Given the description of an element on the screen output the (x, y) to click on. 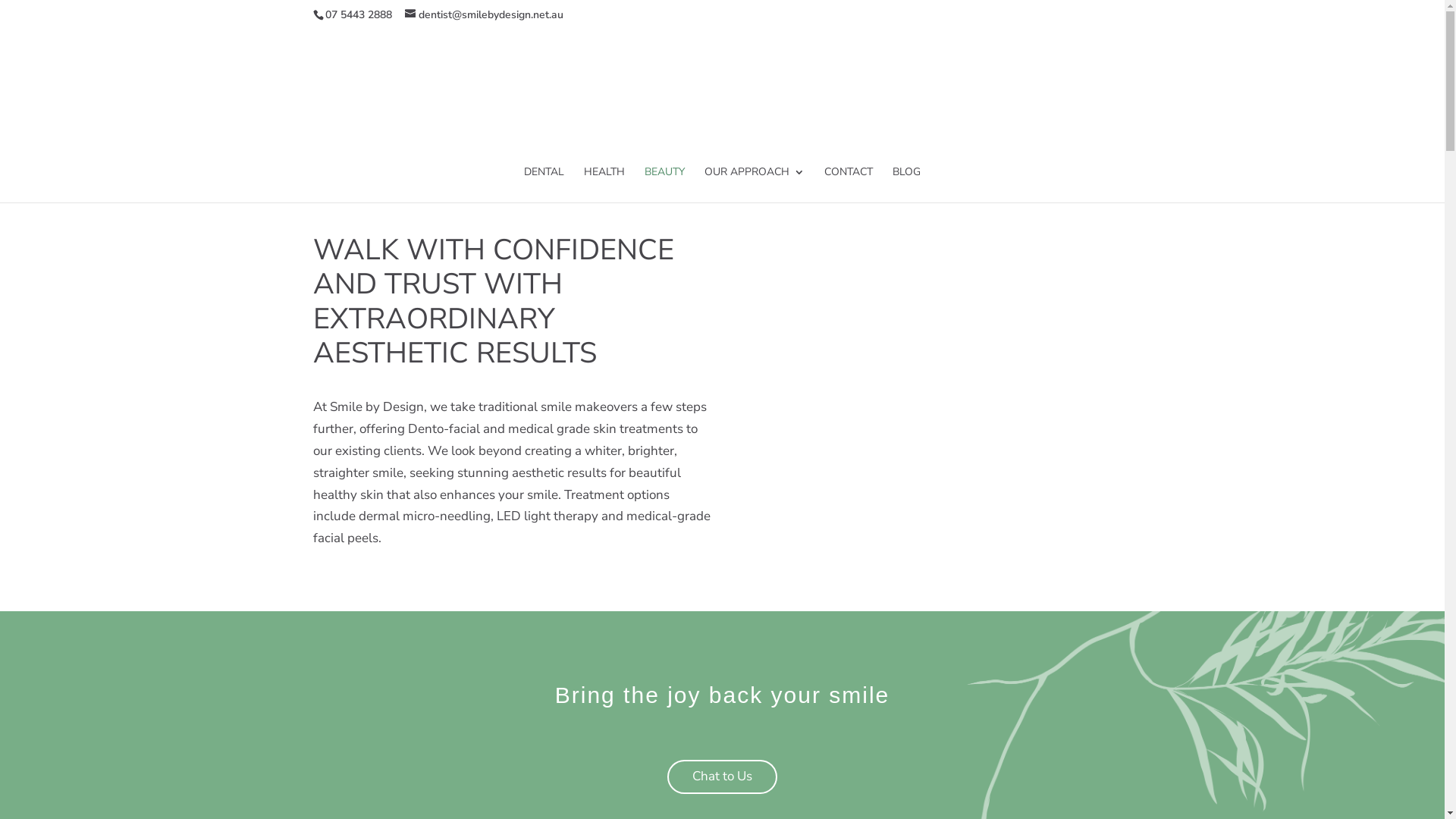
07 5443 2888 Element type: text (357, 14)
DENTAL Element type: text (544, 184)
BEAUTY Element type: text (664, 184)
OUR APPROACH Element type: text (754, 184)
HEALTH Element type: text (603, 184)
Chat to Us Element type: text (721, 776)
dentist@smilebydesign.net.au Element type: text (483, 14)
CONTACT Element type: text (848, 184)
BLOG Element type: text (906, 184)
